Given the description of an element on the screen output the (x, y) to click on. 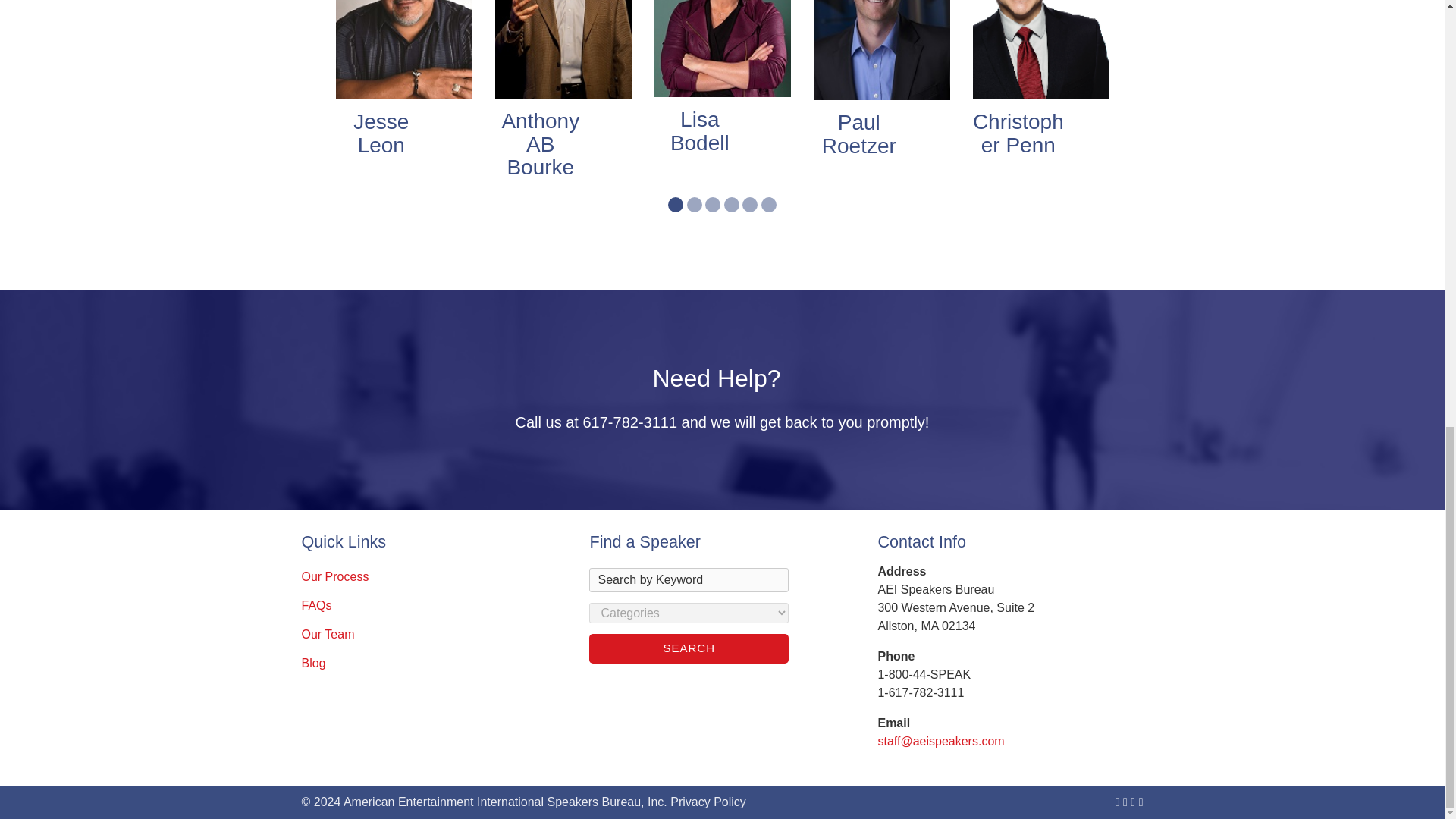
Anthony AB Bourke (540, 144)
Jesse Leon (380, 134)
SEARCH (688, 648)
